Given the description of an element on the screen output the (x, y) to click on. 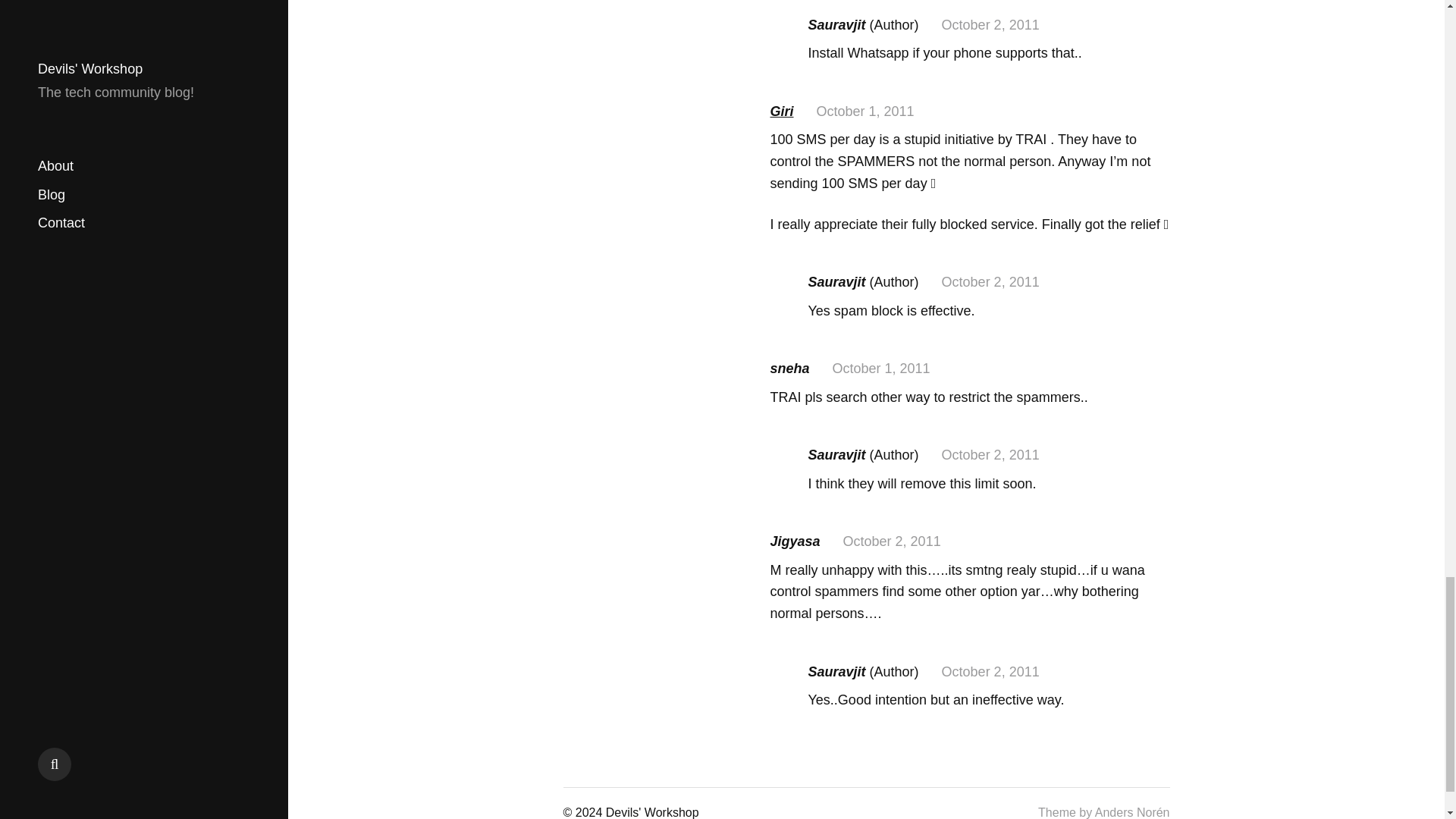
October 2, 2011 at 12:24 pm (891, 540)
October 2, 2011 (990, 281)
October 1, 2011 (865, 111)
October 1, 2011 at 10:57 am (865, 111)
October 2, 2011 (990, 454)
October 2, 2011 at 3:22 pm (990, 24)
October 2, 2011 at 3:23 pm (990, 671)
October 2, 2011 (990, 24)
October 2, 2011 (891, 540)
Giri (781, 111)
